Given the description of an element on the screen output the (x, y) to click on. 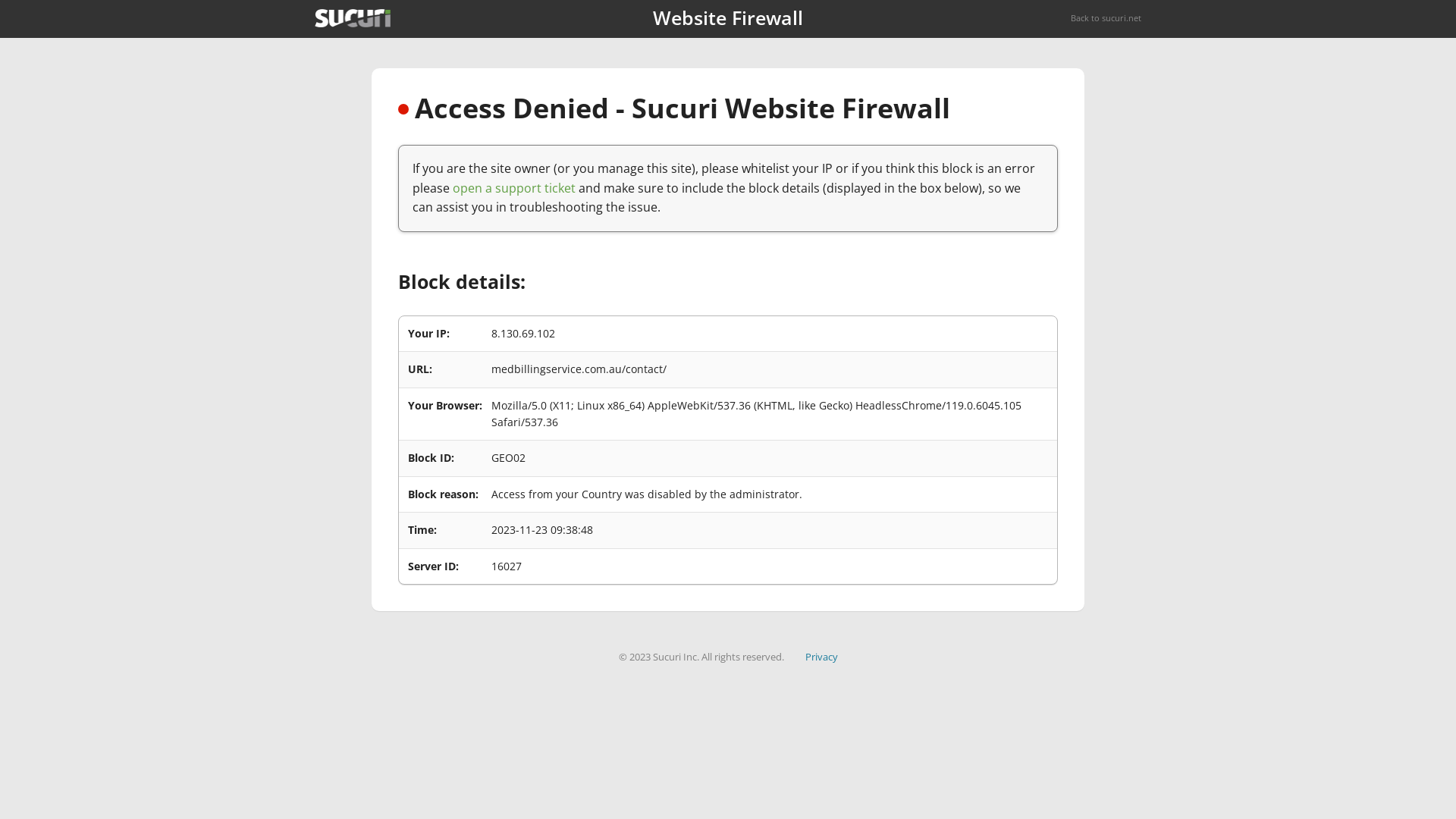
Privacy Element type: text (821, 656)
open a support ticket Element type: text (513, 187)
Back to sucuri.net Element type: text (1105, 18)
